Given the description of an element on the screen output the (x, y) to click on. 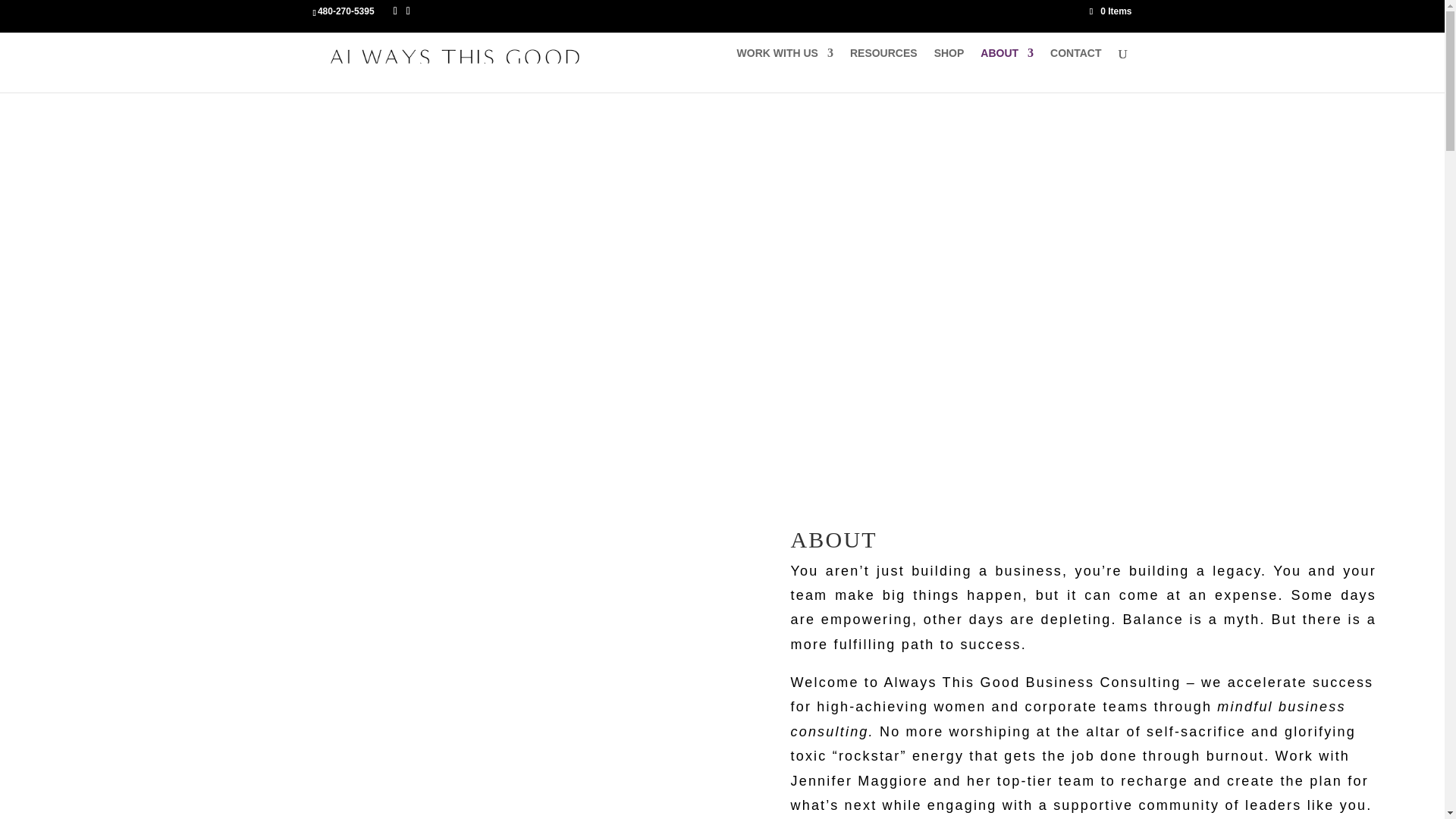
WORK WITH US (784, 65)
RESOURCES (883, 65)
CONTACT (1074, 65)
ABOUT (1006, 65)
0 Items (1110, 10)
